Given the description of an element on the screen output the (x, y) to click on. 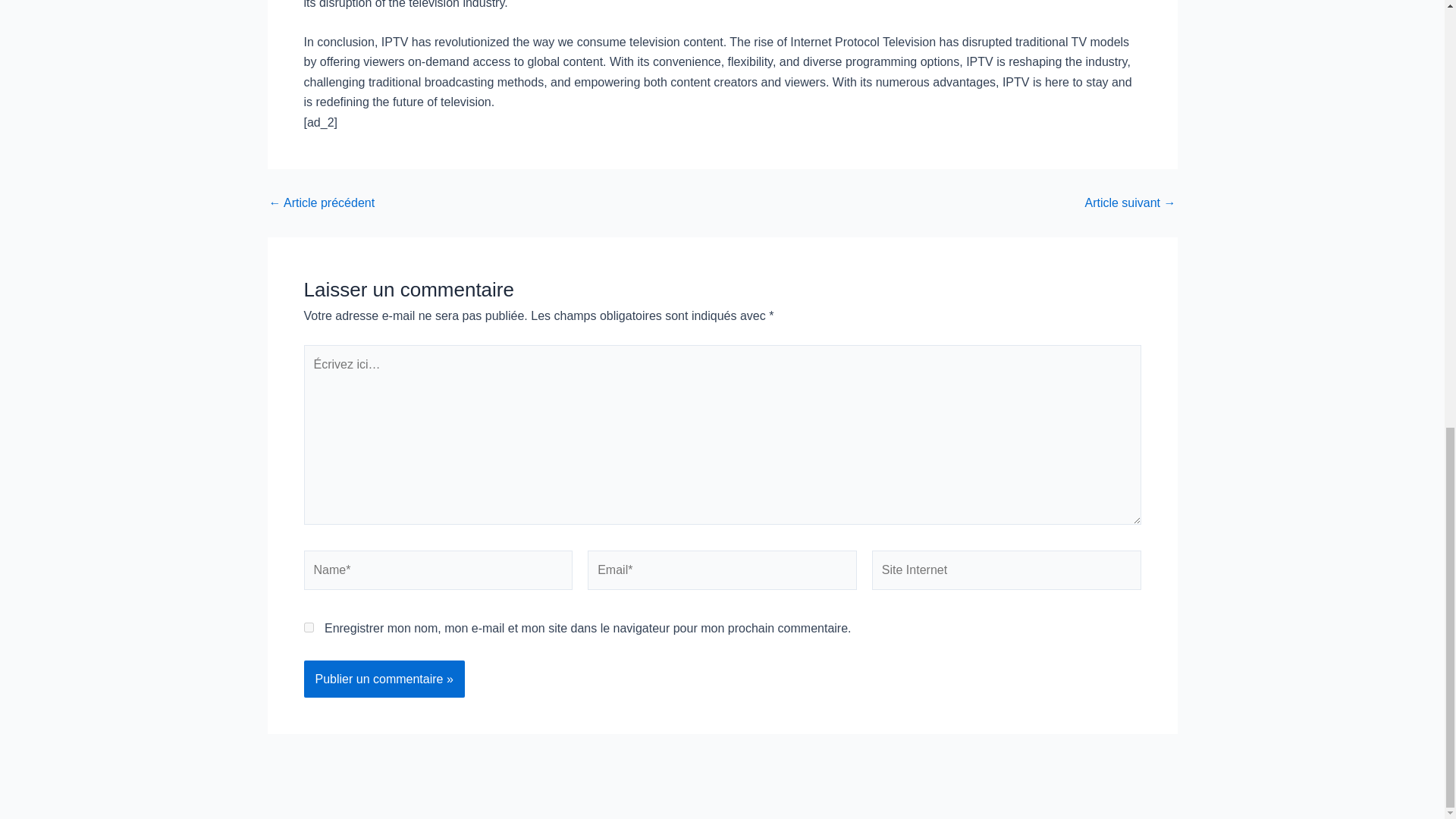
yes (307, 627)
